Given the description of an element on the screen output the (x, y) to click on. 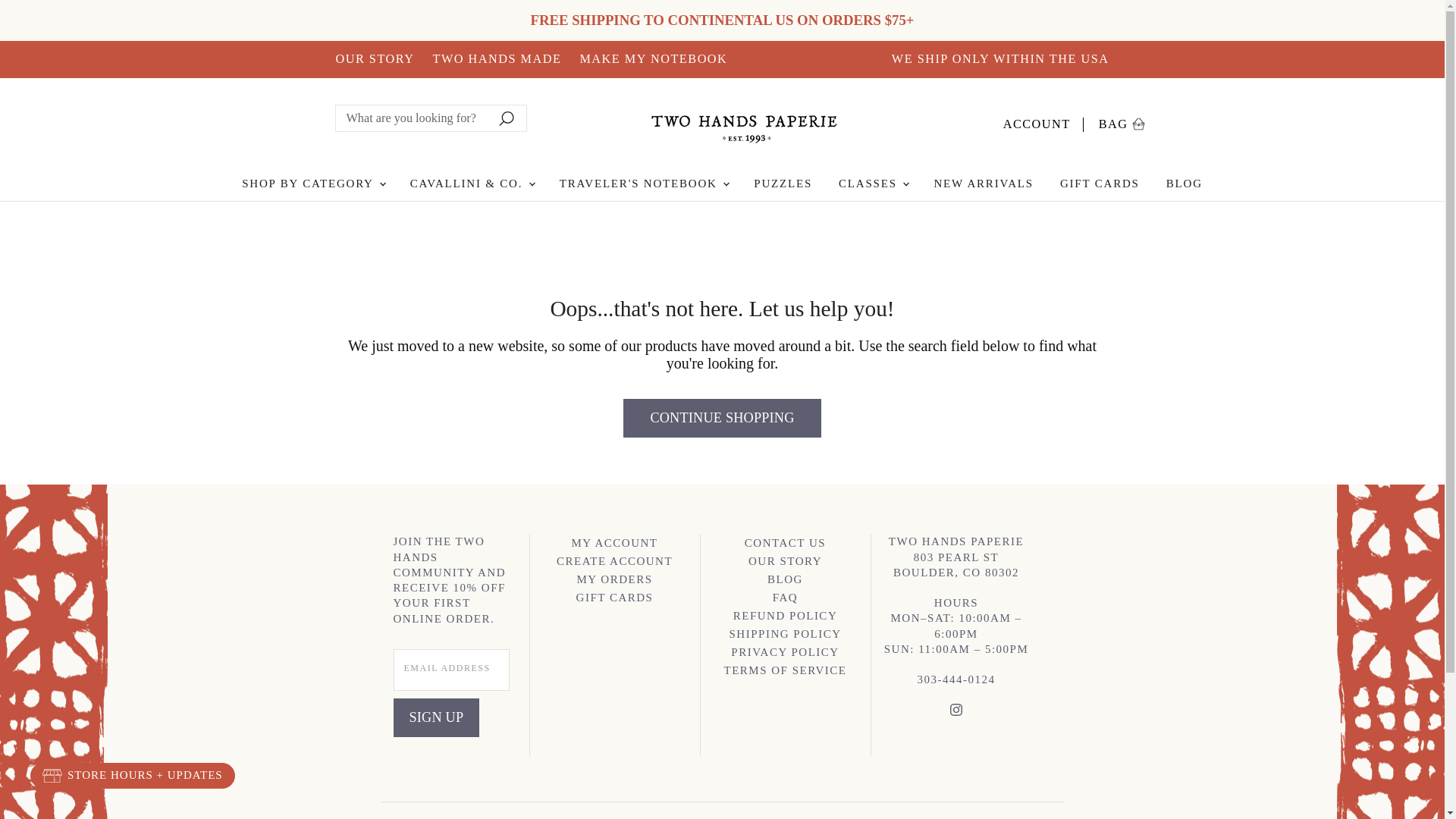
TWO HANDS MADE (496, 59)
SHOP BY CATEGORY (1121, 121)
OUR STORY (312, 183)
Instagram (373, 59)
MAKE MY NOTEBOOK (955, 712)
WE SHIP ONLY WITHIN THE USA (652, 59)
